Given the description of an element on the screen output the (x, y) to click on. 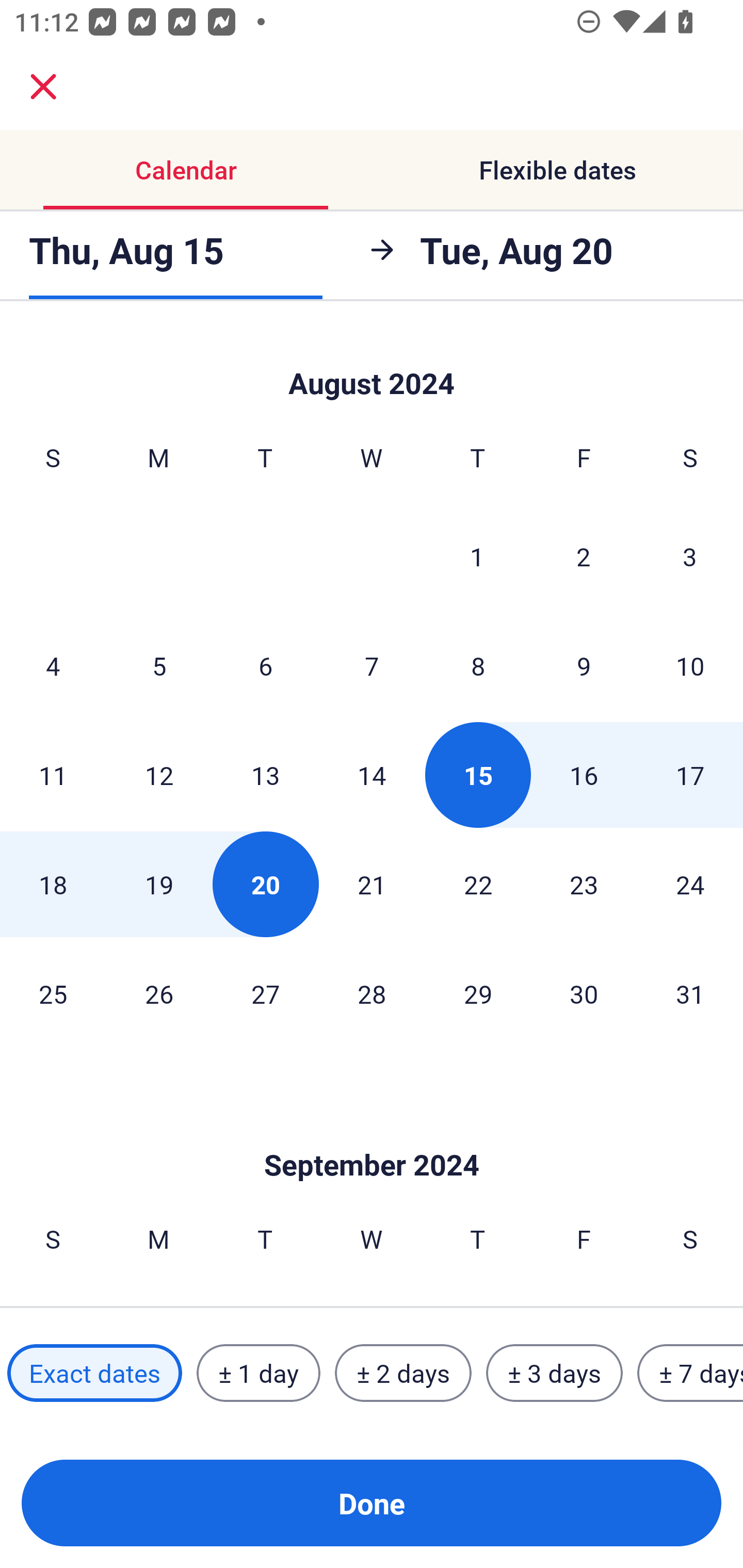
close. (43, 86)
Flexible dates (557, 170)
Skip to Done (371, 363)
1 Thursday, August 1, 2024 (477, 555)
2 Friday, August 2, 2024 (583, 555)
3 Saturday, August 3, 2024 (689, 555)
4 Sunday, August 4, 2024 (53, 665)
5 Monday, August 5, 2024 (159, 665)
6 Tuesday, August 6, 2024 (265, 665)
7 Wednesday, August 7, 2024 (371, 665)
8 Thursday, August 8, 2024 (477, 665)
9 Friday, August 9, 2024 (584, 665)
10 Saturday, August 10, 2024 (690, 665)
11 Sunday, August 11, 2024 (53, 774)
12 Monday, August 12, 2024 (159, 774)
13 Tuesday, August 13, 2024 (265, 774)
14 Wednesday, August 14, 2024 (371, 774)
21 Wednesday, August 21, 2024 (371, 884)
22 Thursday, August 22, 2024 (477, 884)
23 Friday, August 23, 2024 (584, 884)
24 Saturday, August 24, 2024 (690, 884)
25 Sunday, August 25, 2024 (53, 992)
26 Monday, August 26, 2024 (159, 992)
27 Tuesday, August 27, 2024 (265, 992)
28 Wednesday, August 28, 2024 (371, 992)
29 Thursday, August 29, 2024 (477, 992)
30 Friday, August 30, 2024 (584, 992)
31 Saturday, August 31, 2024 (690, 992)
Skip to Done (371, 1134)
Exact dates (94, 1372)
± 1 day (258, 1372)
± 2 days (403, 1372)
± 3 days (553, 1372)
± 7 days (690, 1372)
Done (371, 1502)
